Given the description of an element on the screen output the (x, y) to click on. 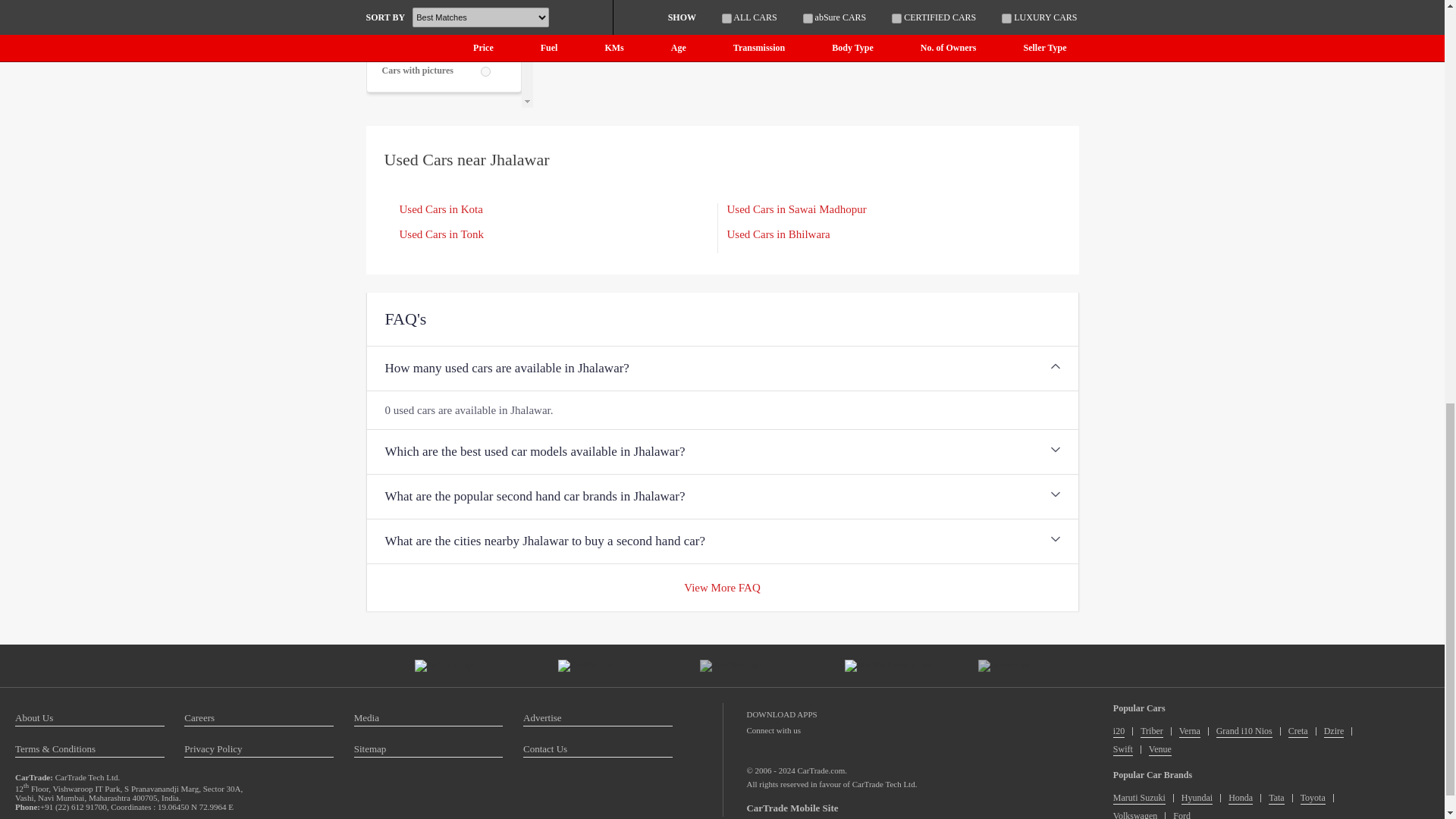
Used Cars in Kota (439, 209)
Used Cars in Tonk (440, 234)
Used Cars in Sawai Madhopur (796, 209)
Used Cars in Bhilwara (777, 234)
2 (485, 71)
